Given the description of an element on the screen output the (x, y) to click on. 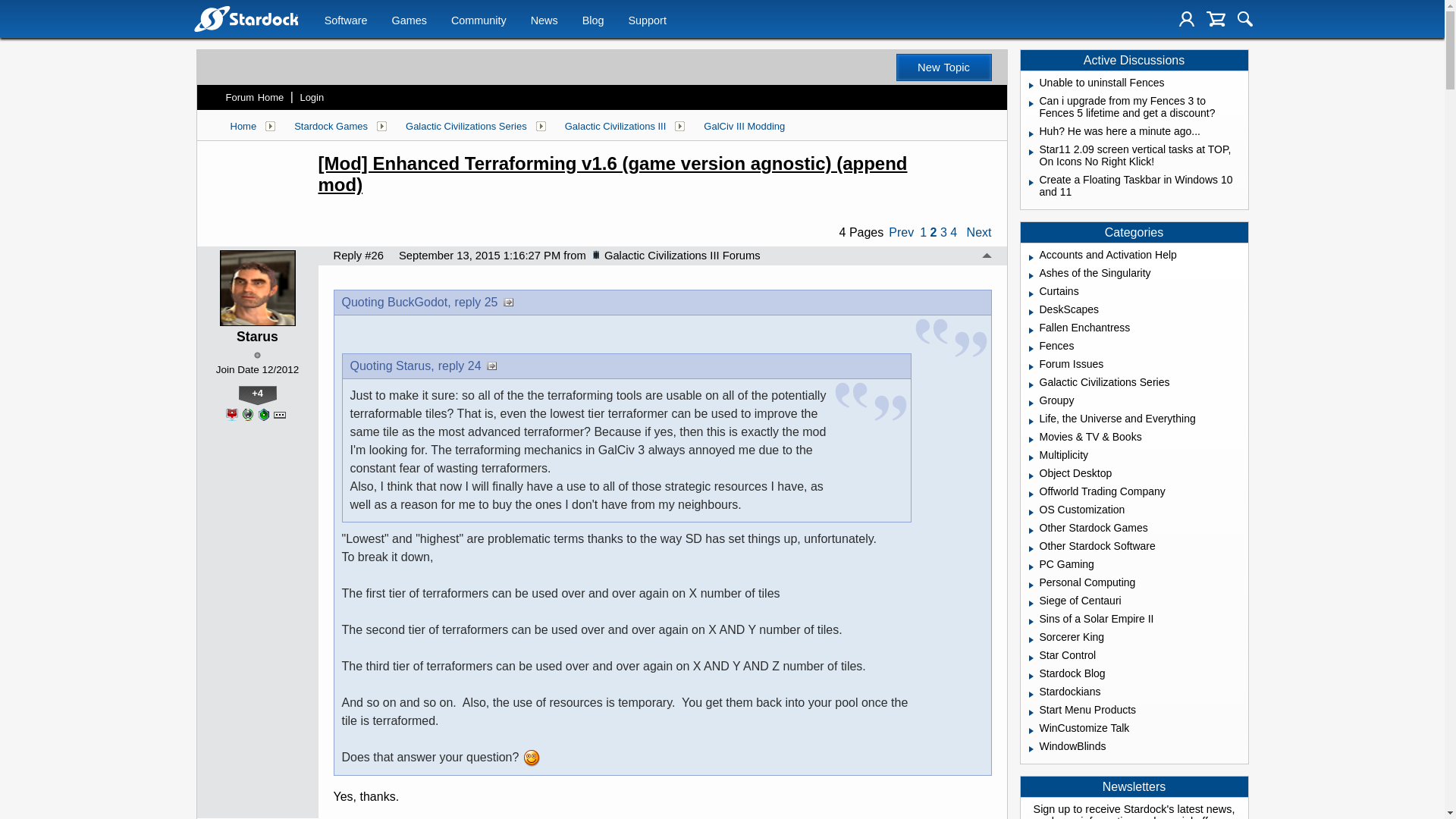
Login (1186, 17)
Stardock Logo (244, 18)
Shopping Cart (1216, 17)
Search Stardock (1244, 17)
Click to view original post (654, 174)
